Given the description of an element on the screen output the (x, y) to click on. 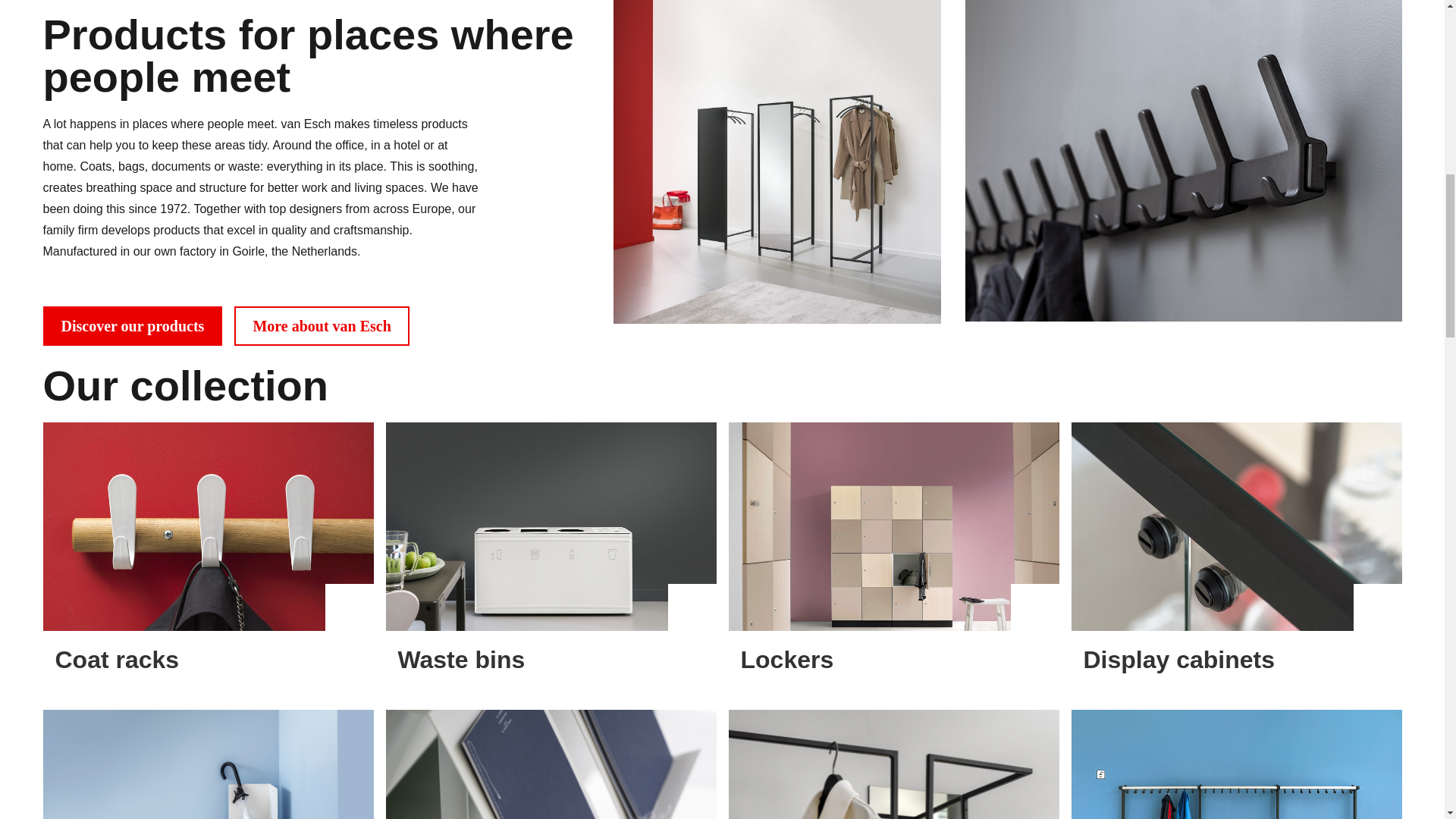
More about van Esch (321, 325)
Mirrors (893, 764)
Benches (1235, 764)
Umbrella holders (207, 764)
Discover our products (132, 325)
Display cabinets (1235, 554)
Brochure holders (550, 764)
Coat racks (207, 554)
Waste bins (550, 554)
Lockers (893, 554)
